Given the description of an element on the screen output the (x, y) to click on. 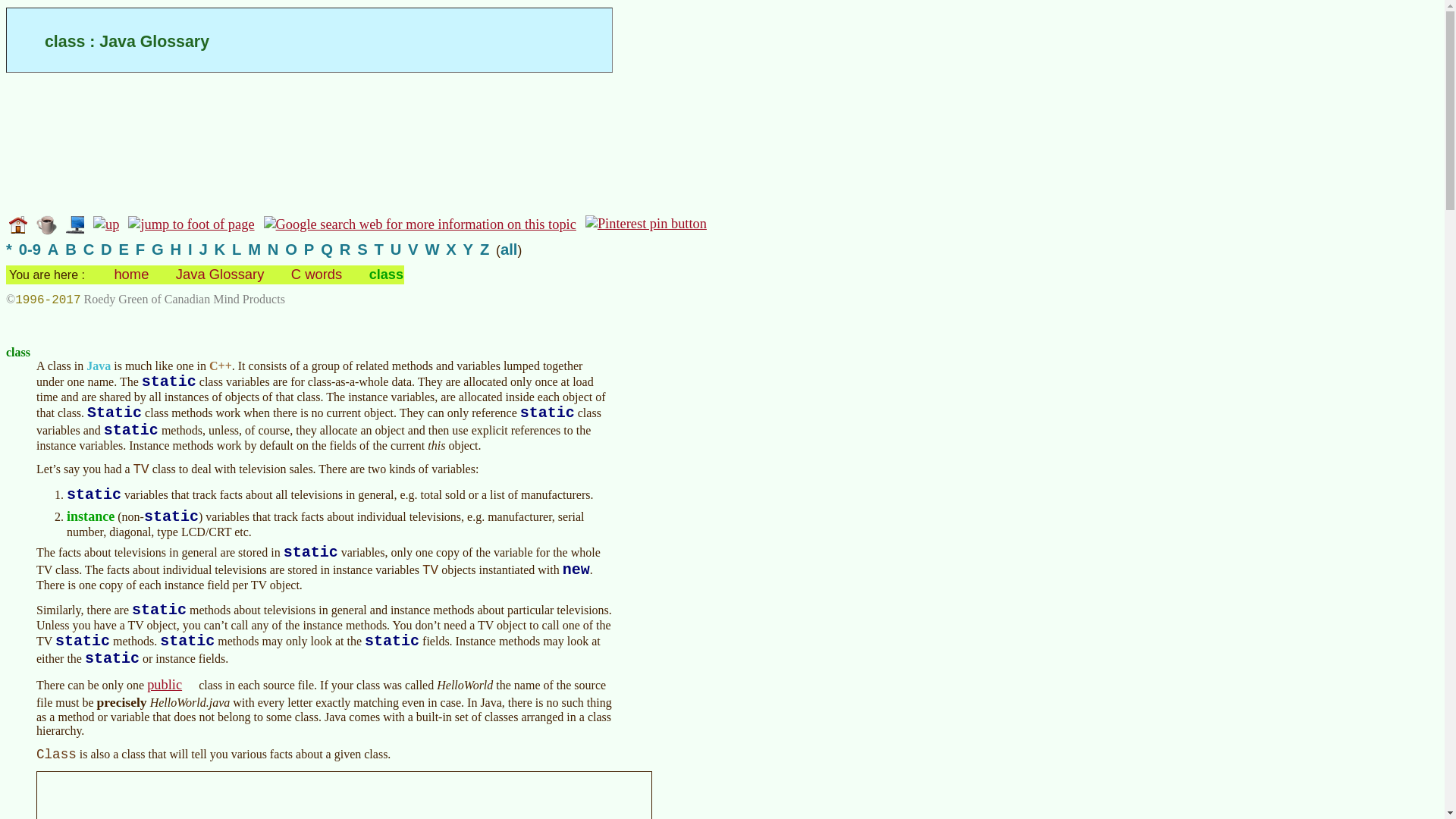
public (171, 684)
Java Glossary (220, 273)
home (130, 273)
0-9 (29, 248)
all (509, 248)
C words (316, 273)
